Given the description of an element on the screen output the (x, y) to click on. 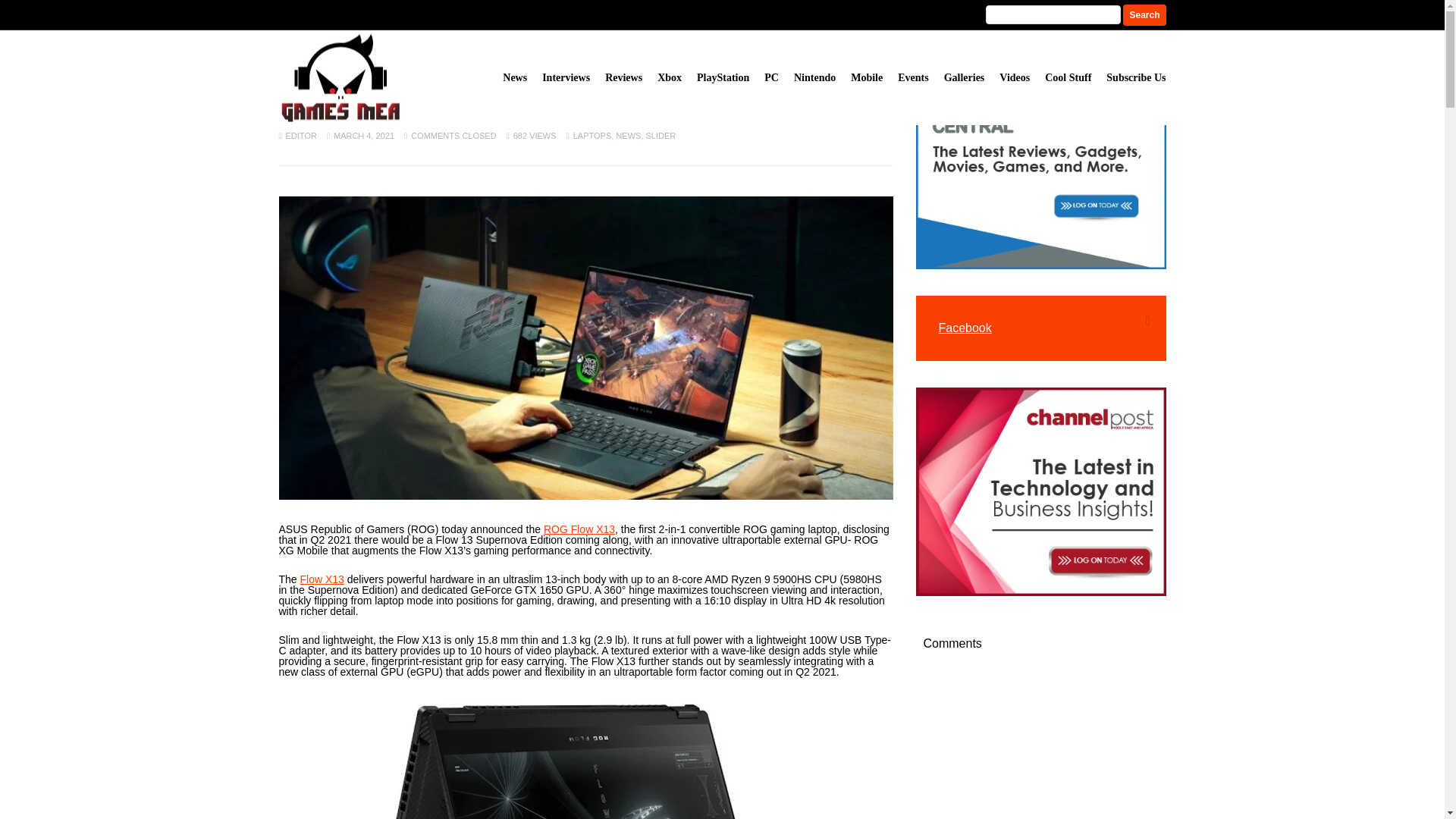
EDITOR (301, 135)
NEWS (627, 135)
Reviews (623, 77)
Mobile (866, 77)
LAPTOPS (592, 135)
Cool Stuff (1067, 77)
PlayStation (723, 77)
Galleries (964, 77)
Subscribe Us (1136, 77)
ROG Flow X13 (578, 529)
